Given the description of an element on the screen output the (x, y) to click on. 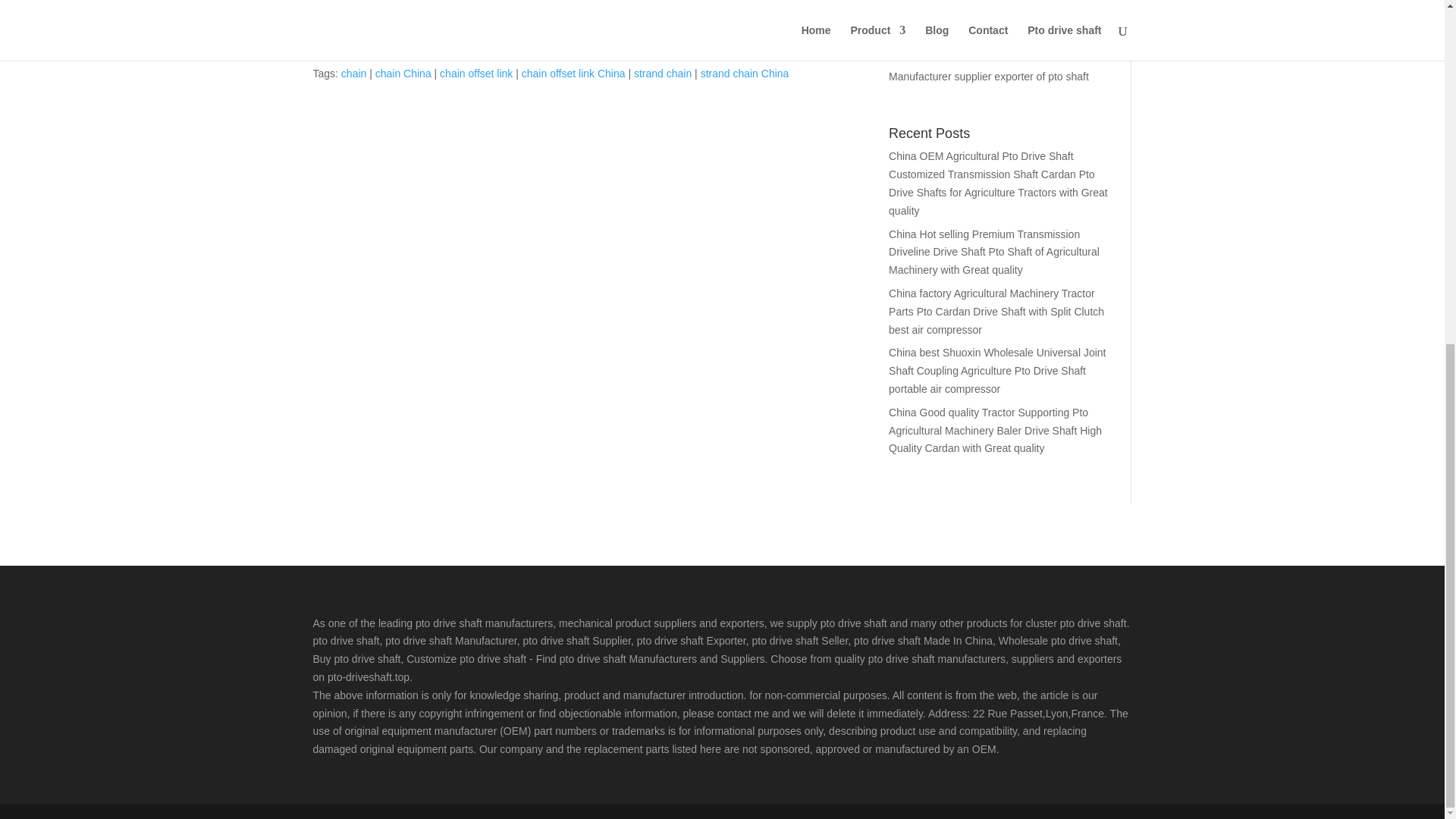
chain (353, 73)
strand chain (662, 73)
strand chain China (744, 73)
chain offset link (475, 73)
chain offset link China (573, 73)
